Given the description of an element on the screen output the (x, y) to click on. 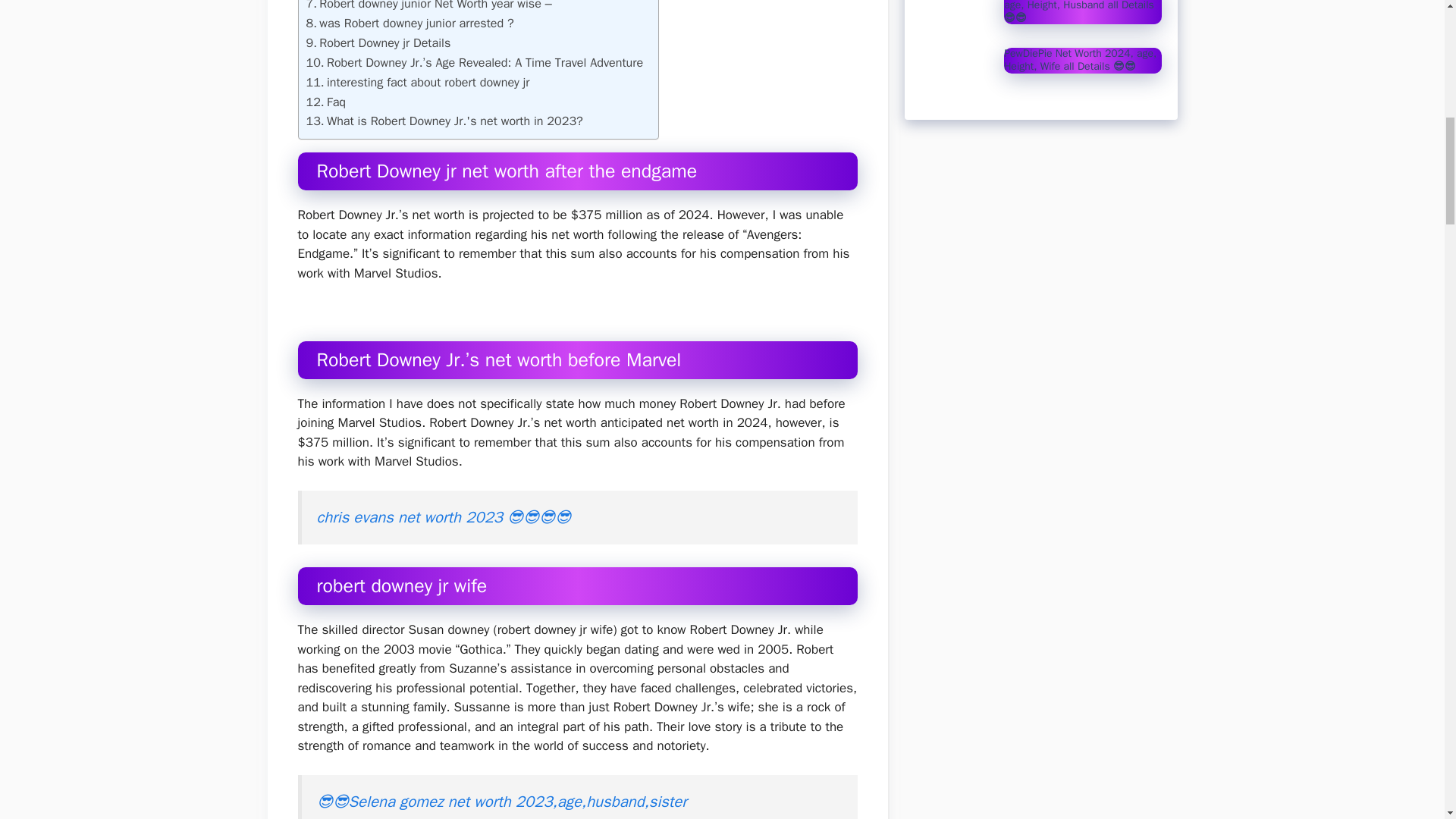
What is Robert Downey Jr.'s net worth in 2023? (444, 121)
interesting fact about robert downey jr (417, 82)
was Robert downey junior arrested ? (409, 23)
Robert Downey jr Details (378, 43)
Faq (325, 102)
Robert Downey jr Details (378, 43)
interesting fact about robert downey jr (417, 82)
What is Robert Downey Jr.'s net worth in 2023? (444, 121)
Faq (325, 102)
was Robert downey junior arrested ? (409, 23)
